Given the description of an element on the screen output the (x, y) to click on. 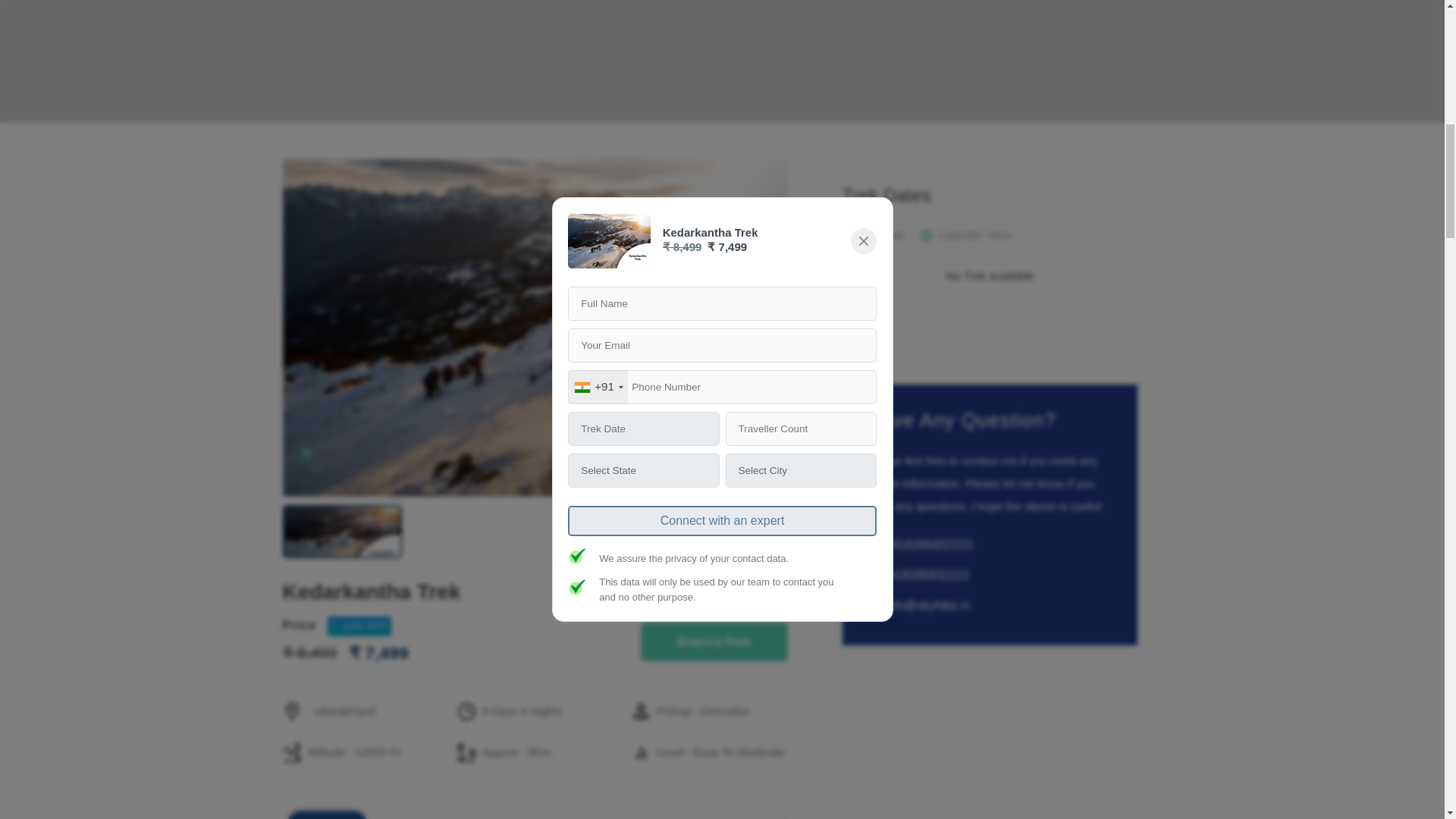
Enquiry Now (714, 641)
Itinerary (400, 814)
Description (327, 814)
2 (925, 235)
1 (848, 235)
